Given the description of an element on the screen output the (x, y) to click on. 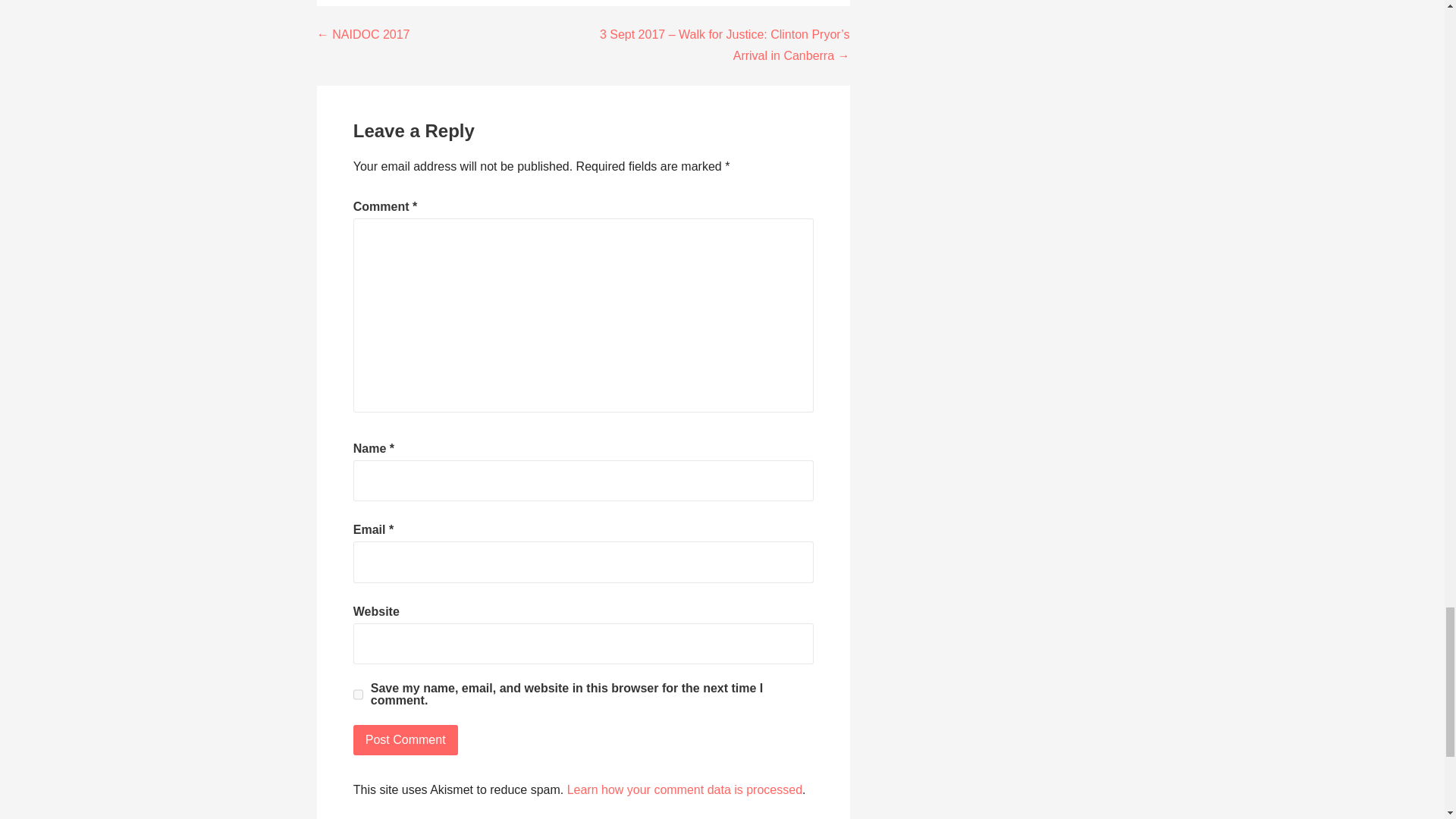
Post Comment (405, 739)
Learn how your comment data is processed (684, 789)
Post Comment (405, 739)
